Given the description of an element on the screen output the (x, y) to click on. 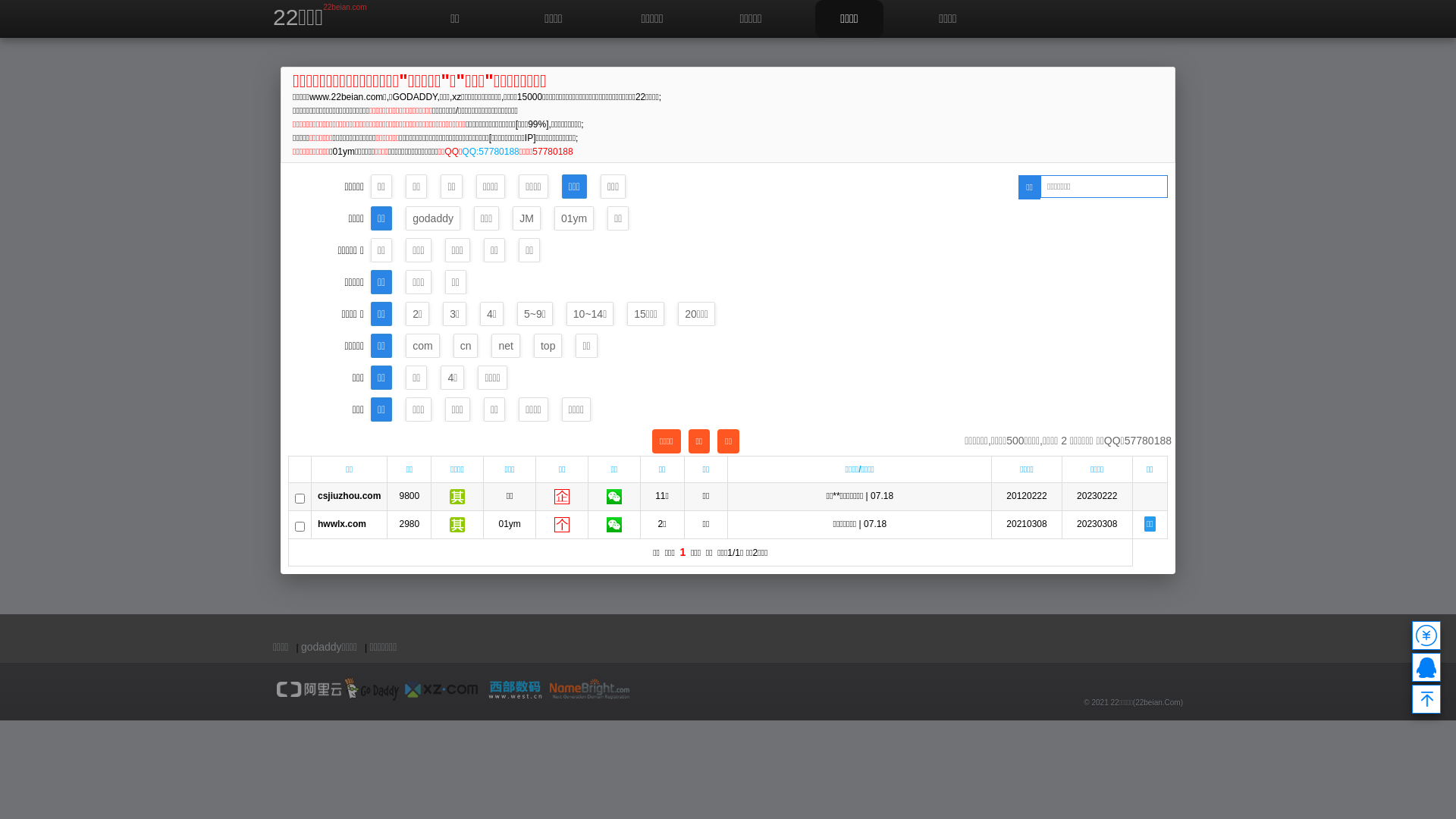
cn Element type: text (465, 345)
net Element type: text (505, 345)
JM Element type: text (526, 218)
godaddy Element type: text (432, 218)
01ym Element type: text (574, 218)
top Element type: text (547, 345)
com Element type: text (422, 345)
QQ:57780188 Element type: text (489, 151)
0 Element type: text (1426, 666)
0 Element type: text (1426, 635)
